Given the description of an element on the screen output the (x, y) to click on. 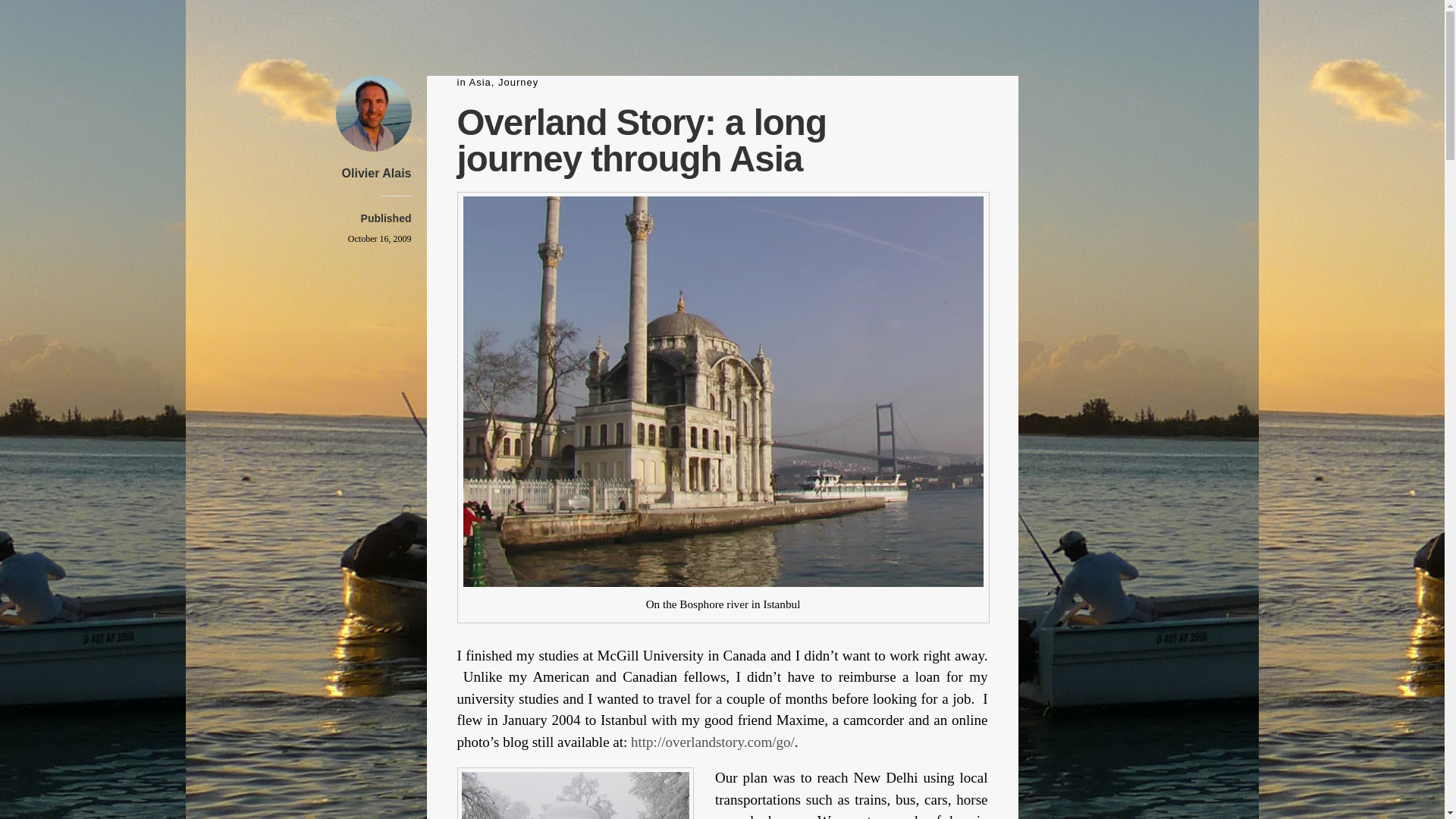
Journey (517, 81)
View all posts by Olivier Alais (377, 173)
Overland Story: a long journey through Asia (379, 238)
Olivier Alais (377, 173)
Asia (480, 81)
October 16, 2009 (379, 238)
